Given the description of an element on the screen output the (x, y) to click on. 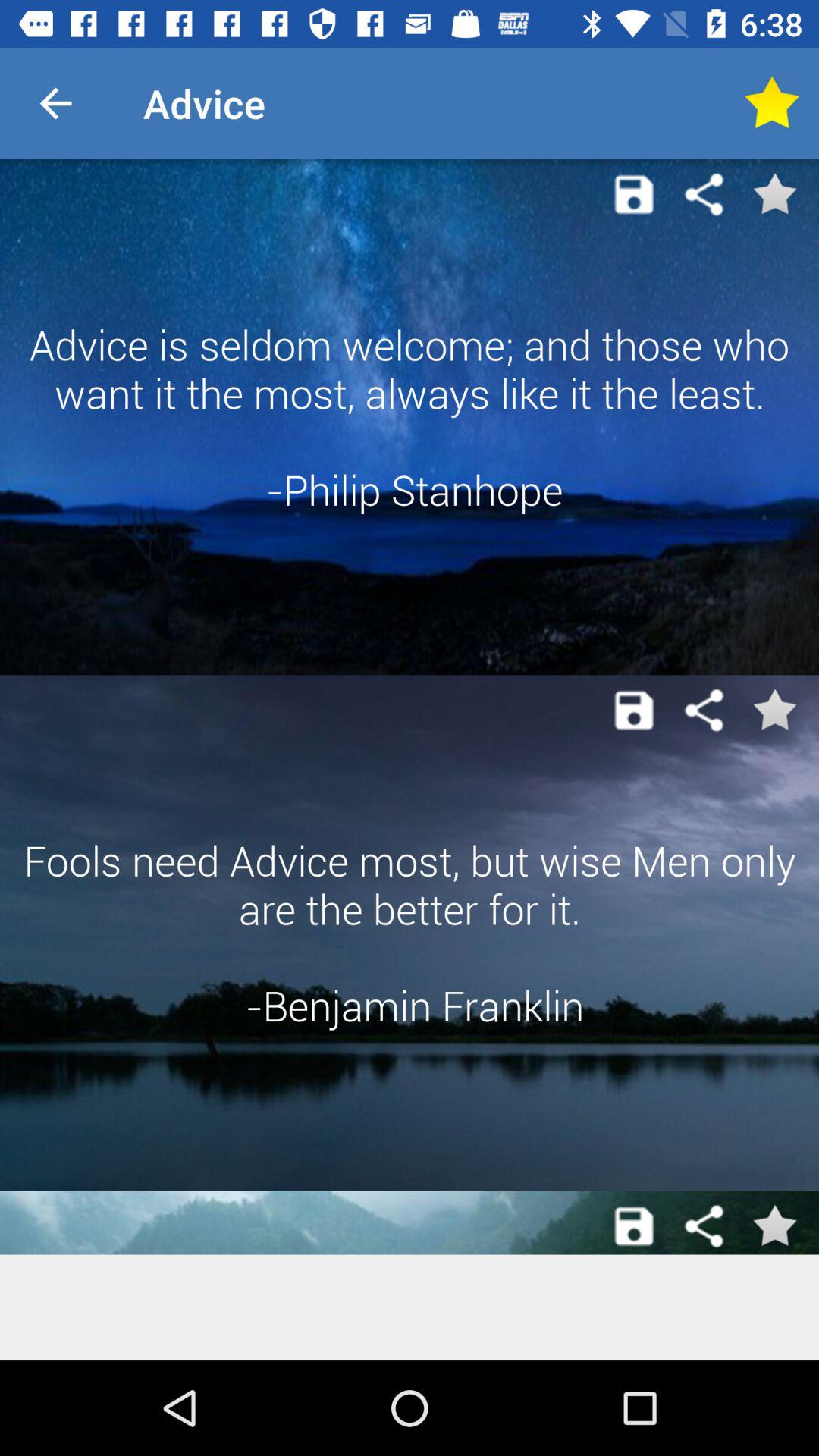
scroll until the fools need advice app (409, 932)
